Given the description of an element on the screen output the (x, y) to click on. 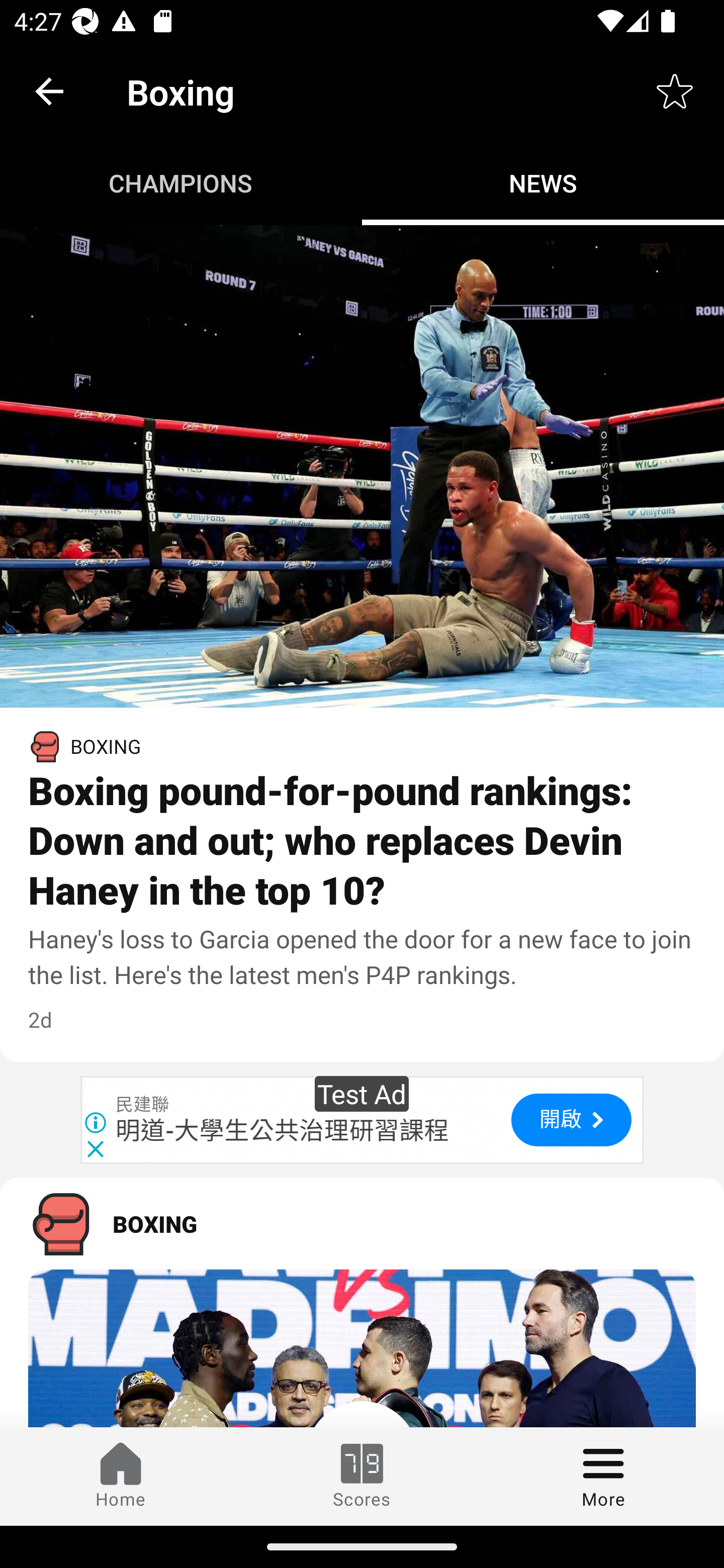
back.button (49, 90)
Favorite toggle (674, 90)
Champions CHAMPIONS (181, 183)
民建聯 (142, 1104)
開啟 (570, 1119)
明道-大學生公共治理研習課程 (282, 1130)
BOXING (362, 1223)
Home (120, 1475)
Scores (361, 1475)
